Given the description of an element on the screen output the (x, y) to click on. 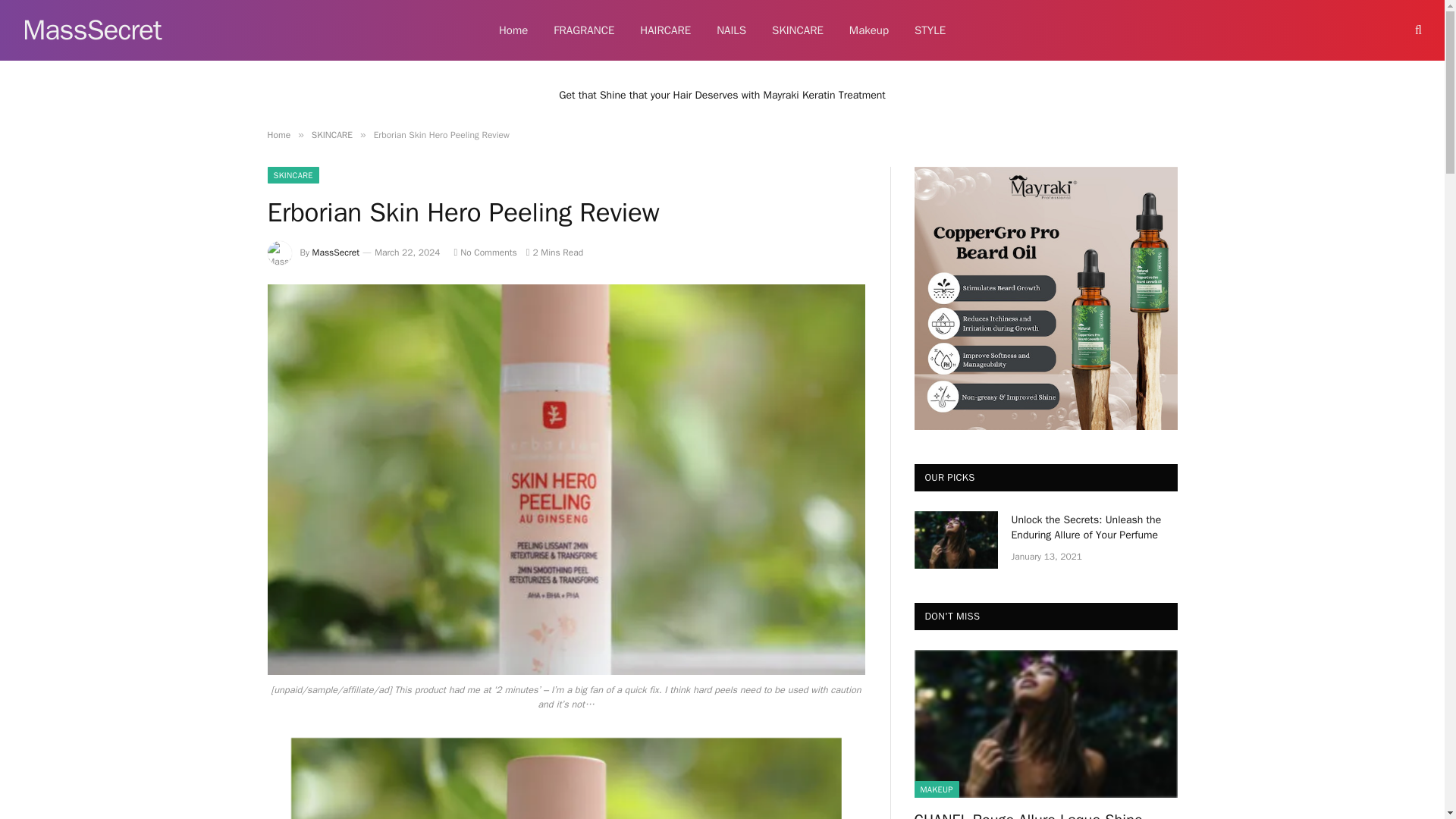
SKINCARE (331, 134)
NAILS (730, 30)
MassSecret (336, 252)
Home (513, 30)
SKINCARE (796, 30)
Home (277, 134)
Makeup (868, 30)
No Comments (484, 252)
Posts by MassSecret (336, 252)
STYLE (929, 30)
MassSecret (92, 30)
HAIRCARE (665, 30)
MassSecret (92, 30)
